Given the description of an element on the screen output the (x, y) to click on. 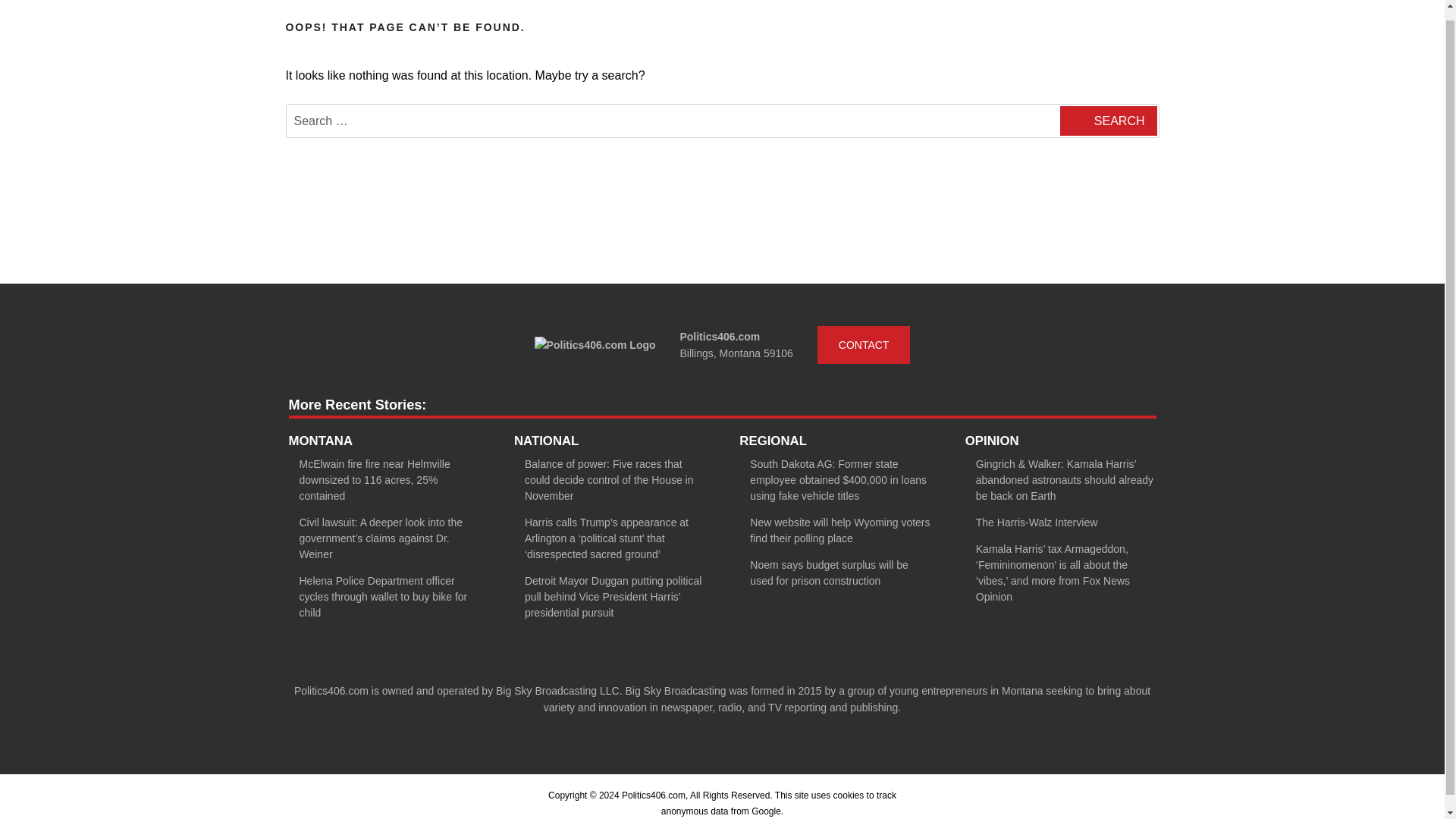
Contact Politics406.com (863, 344)
POLITICS406.COM (403, 11)
The Harris-Walz Interview (1036, 522)
Home page (595, 344)
CONTACT (863, 344)
SEARCH (1107, 120)
